Given the description of an element on the screen output the (x, y) to click on. 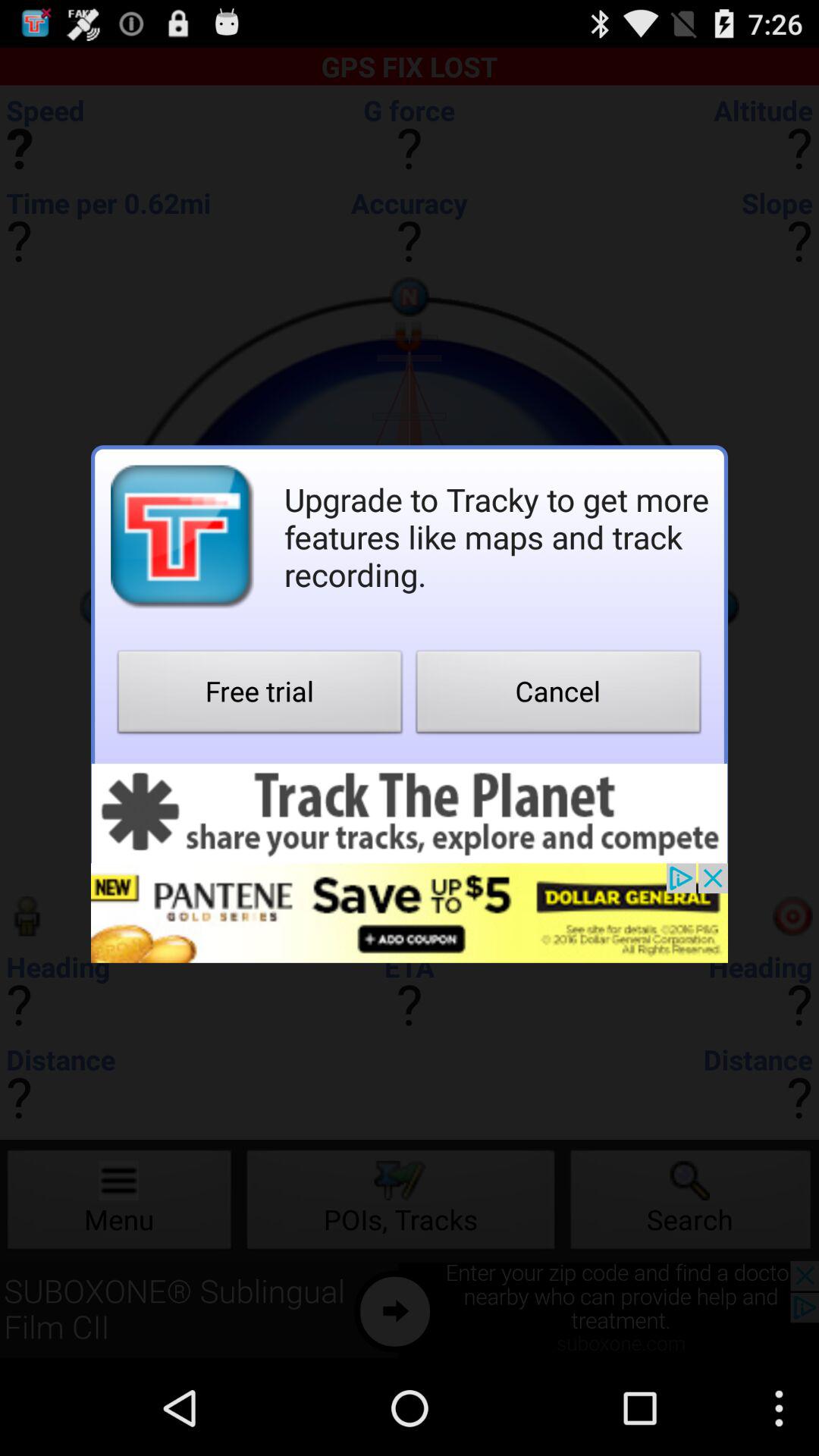
banner advertisement (409, 813)
